Given the description of an element on the screen output the (x, y) to click on. 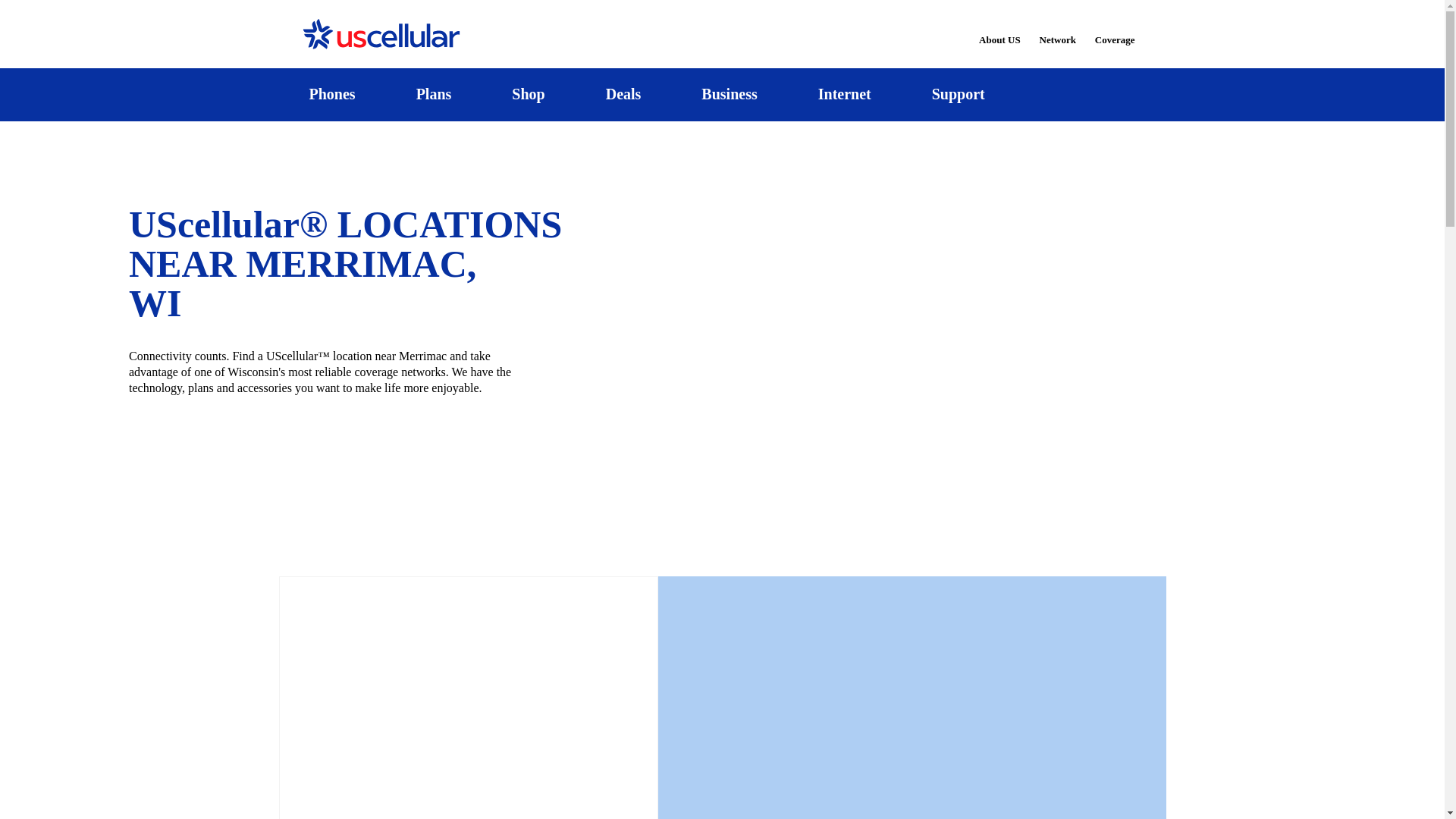
About US (999, 30)
Deals (623, 94)
Coverage (1115, 29)
Internet (844, 94)
Support (957, 94)
Business (729, 94)
Shop (528, 94)
Plans (433, 94)
Phones (332, 94)
Network (1057, 30)
